Given the description of an element on the screen output the (x, y) to click on. 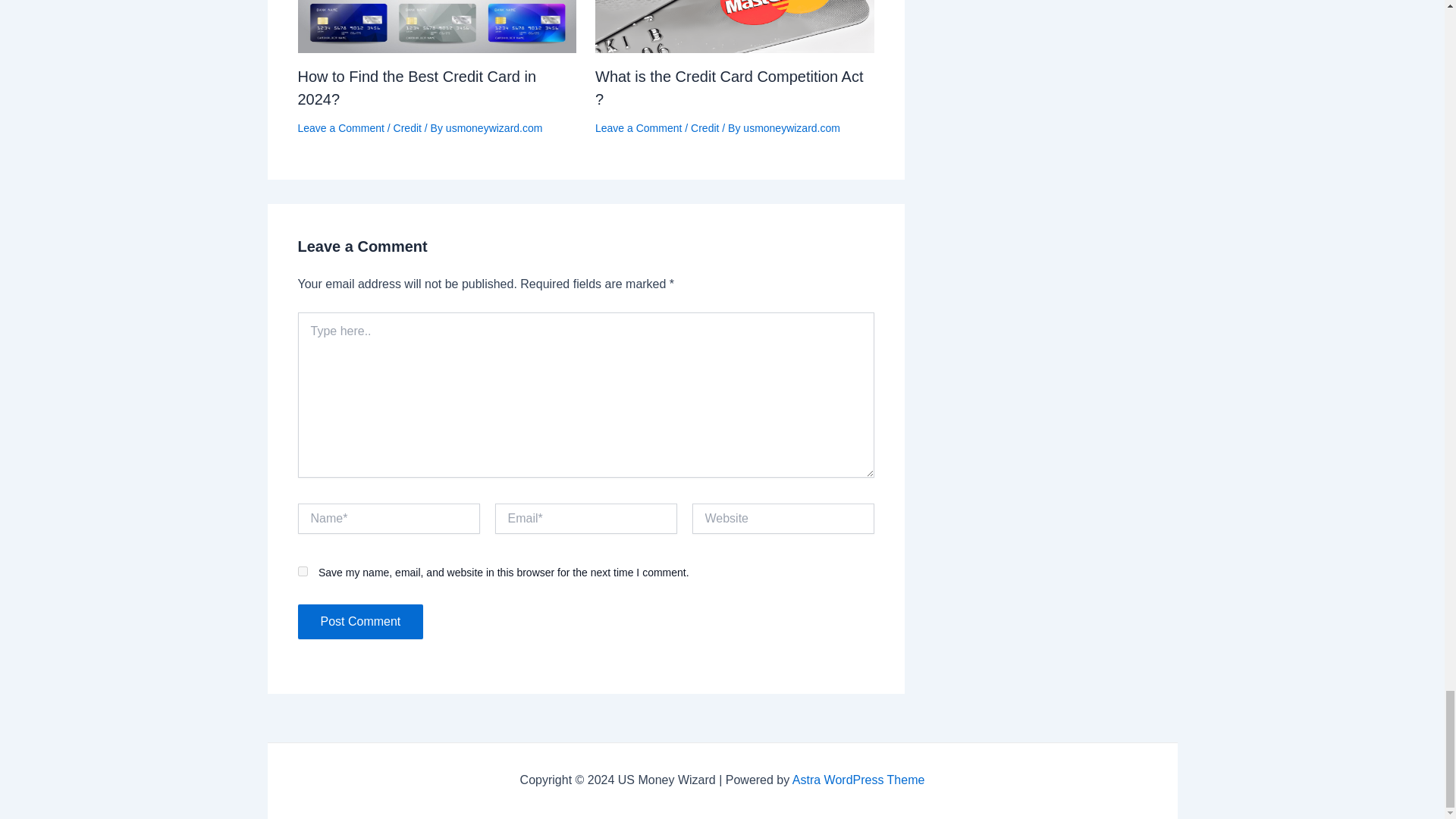
View all posts by usmoneywizard.com (494, 128)
View all posts by usmoneywizard.com (791, 128)
yes (302, 571)
Post Comment (360, 621)
